Given the description of an element on the screen output the (x, y) to click on. 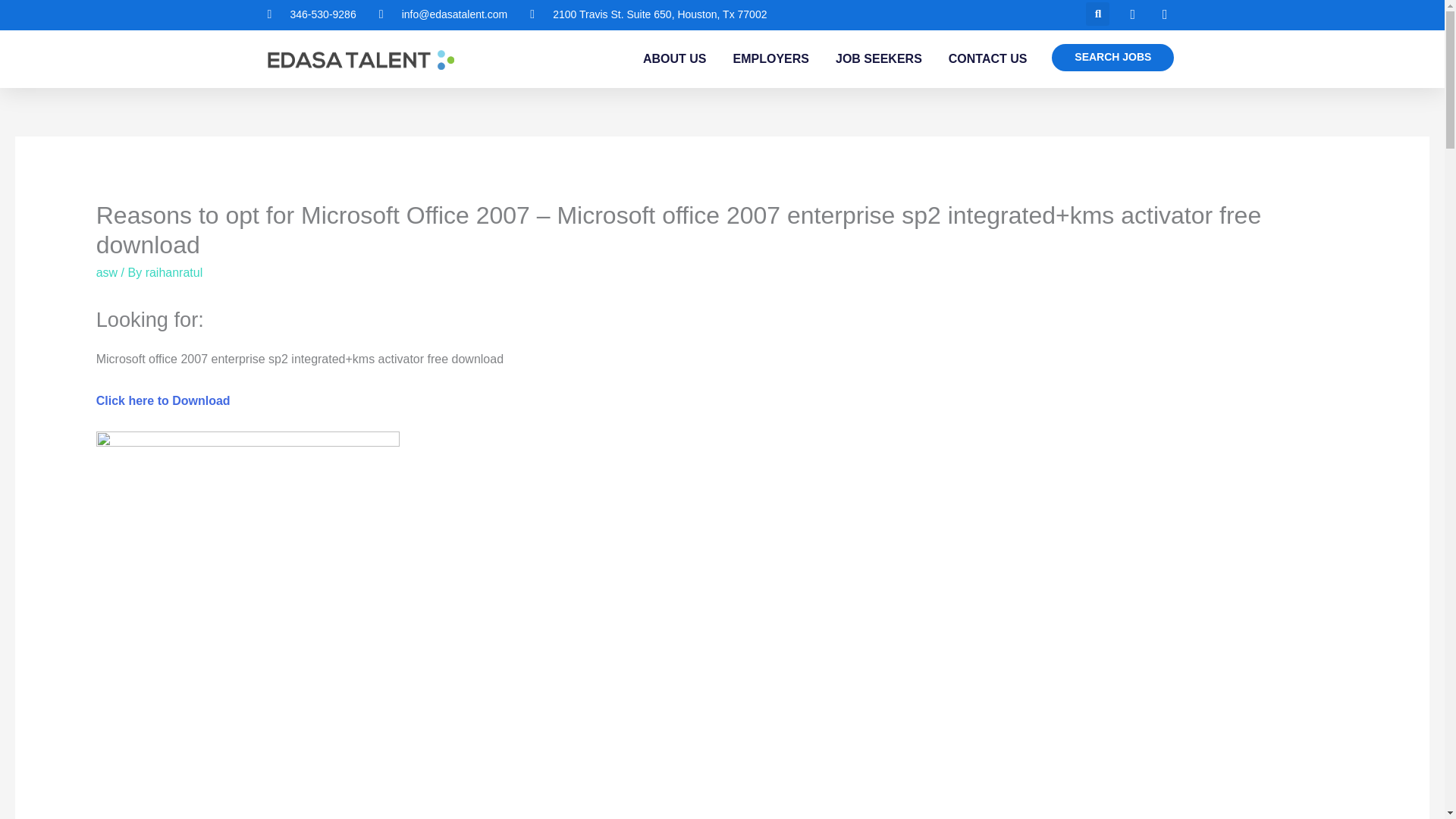
SEARCH JOBS (1112, 57)
Click here to Download (163, 400)
JOB SEEKERS (878, 58)
raihanratul (174, 272)
CONTACT US (988, 58)
EMPLOYERS (771, 58)
View all posts by raihanratul (174, 272)
ABOUT US (674, 58)
346-530-9286 (310, 14)
asw (106, 272)
